Given the description of an element on the screen output the (x, y) to click on. 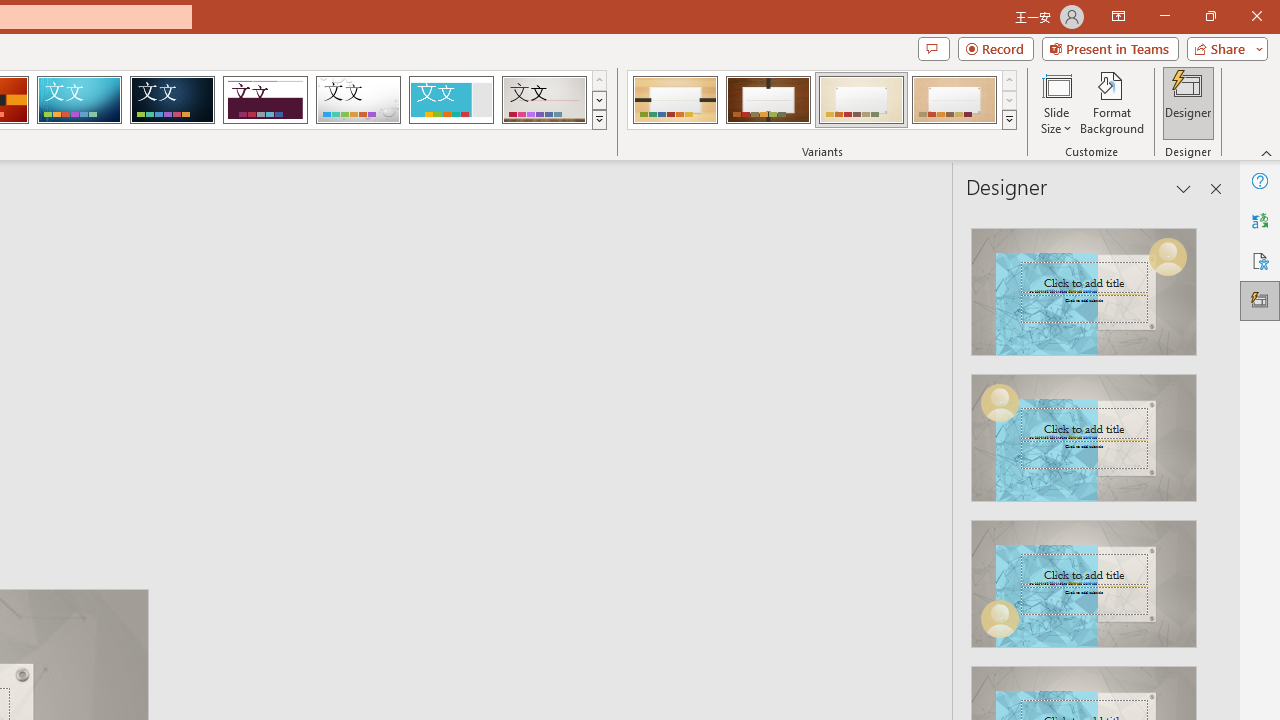
Organic Variant 3 (861, 100)
Format Background (1111, 102)
Organic Variant 4 (953, 100)
Circuit (79, 100)
Slide Size (1056, 102)
